Given the description of an element on the screen output the (x, y) to click on. 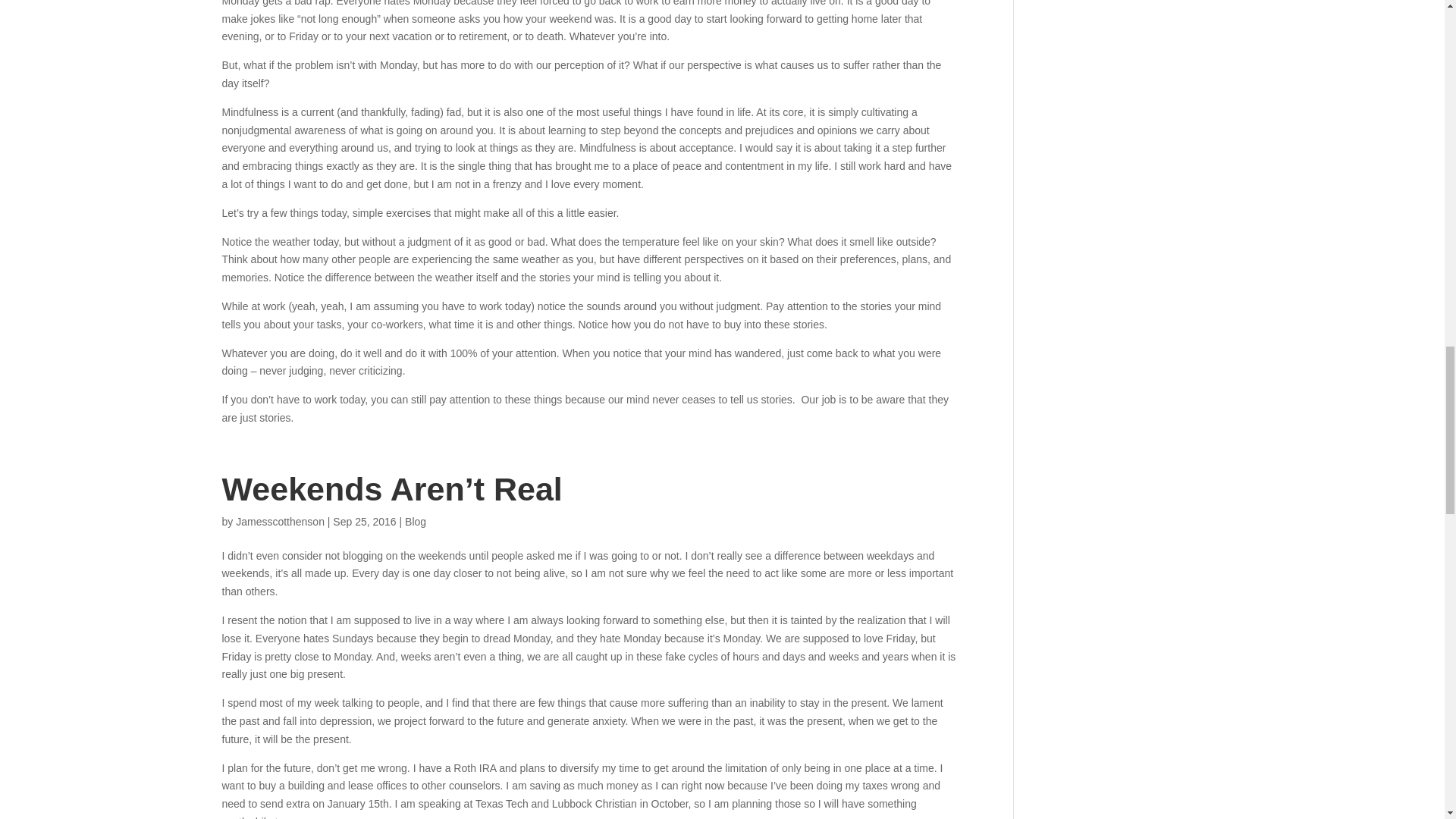
Blog (415, 521)
Jamesscotthenson (279, 521)
Posts by Jamesscotthenson (279, 521)
